Given the description of an element on the screen output the (x, y) to click on. 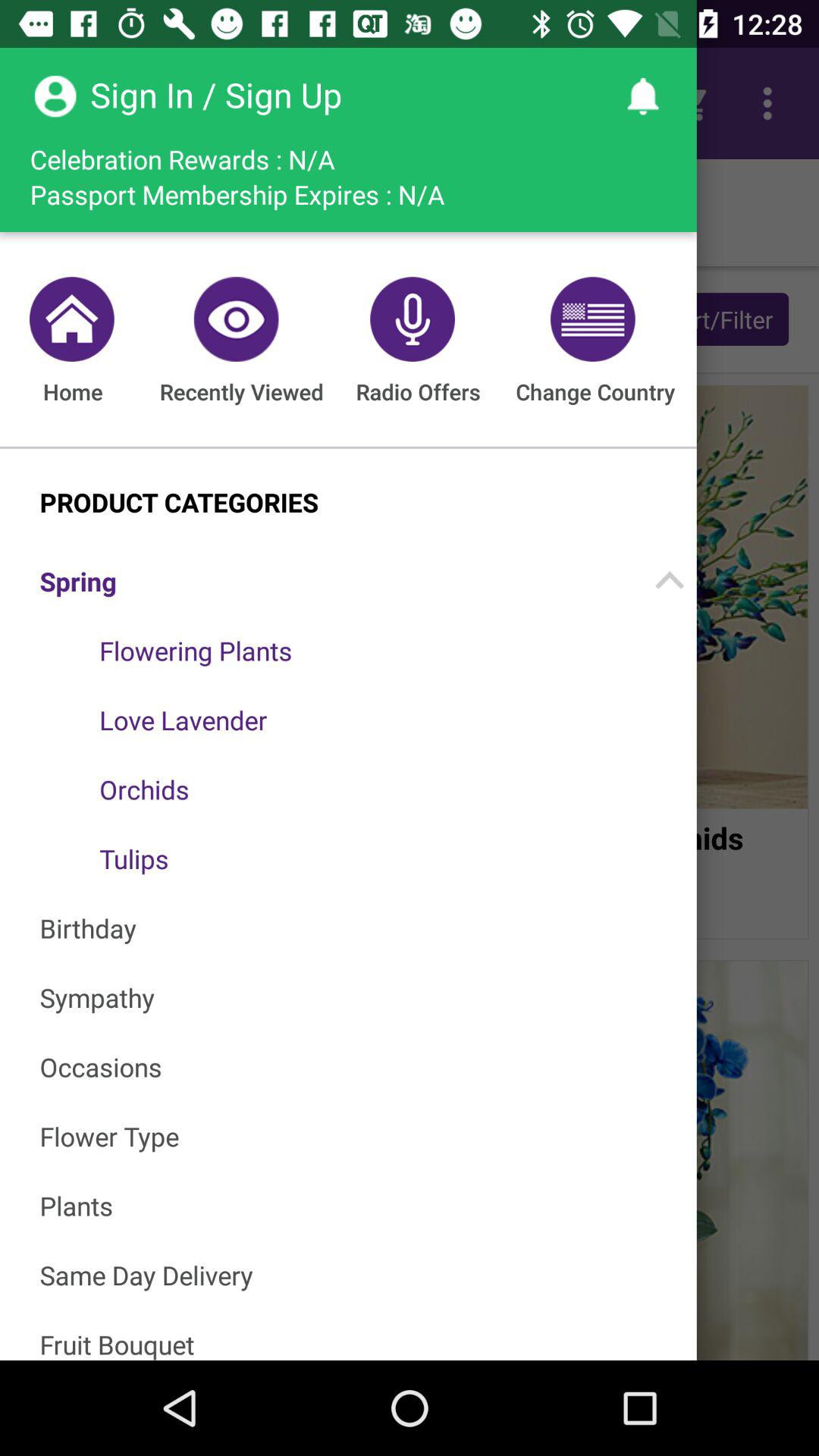
select the icon which is above change country (589, 318)
